Given the description of an element on the screen output the (x, y) to click on. 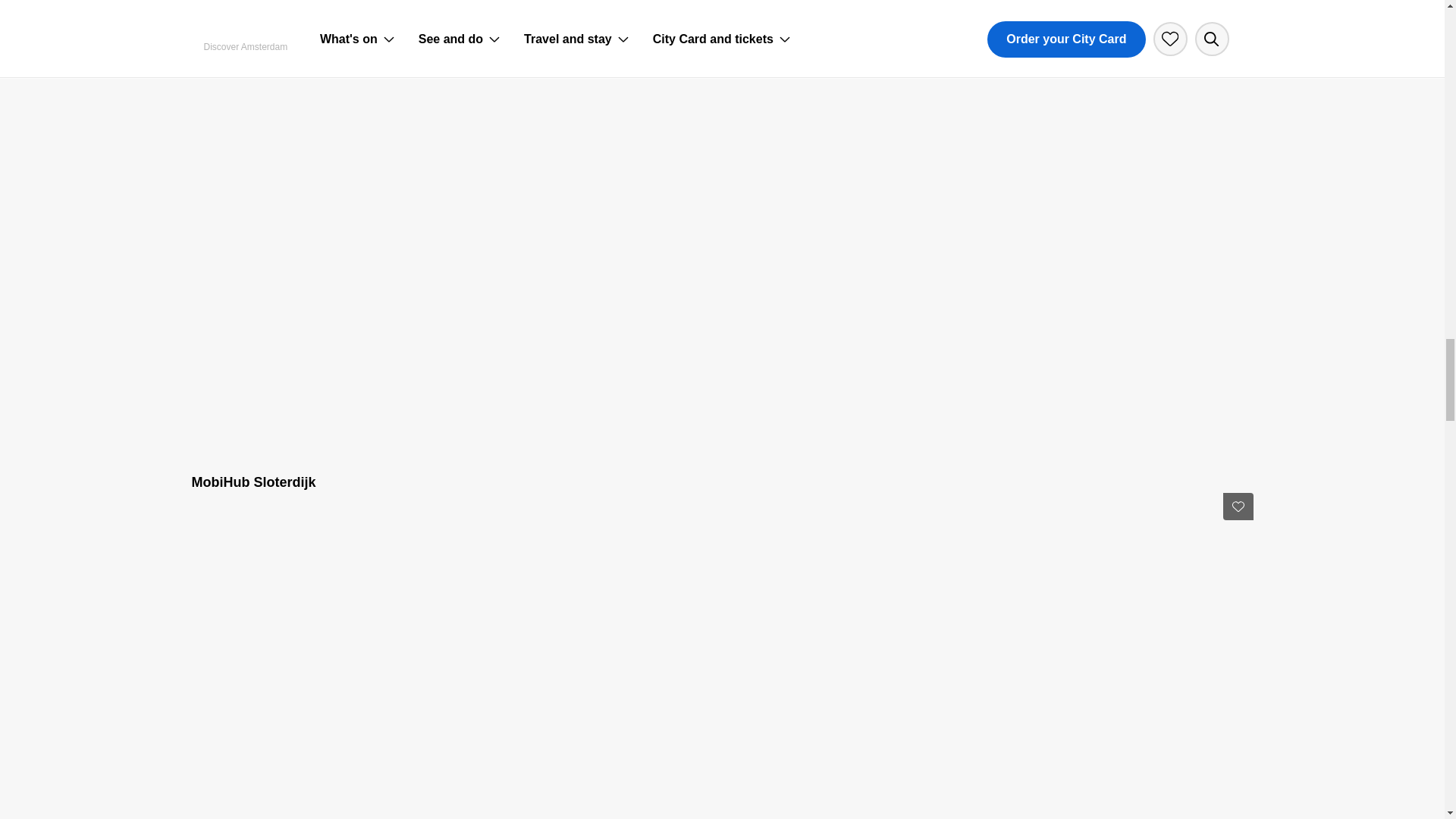
Add to favourites (1237, 506)
